Given the description of an element on the screen output the (x, y) to click on. 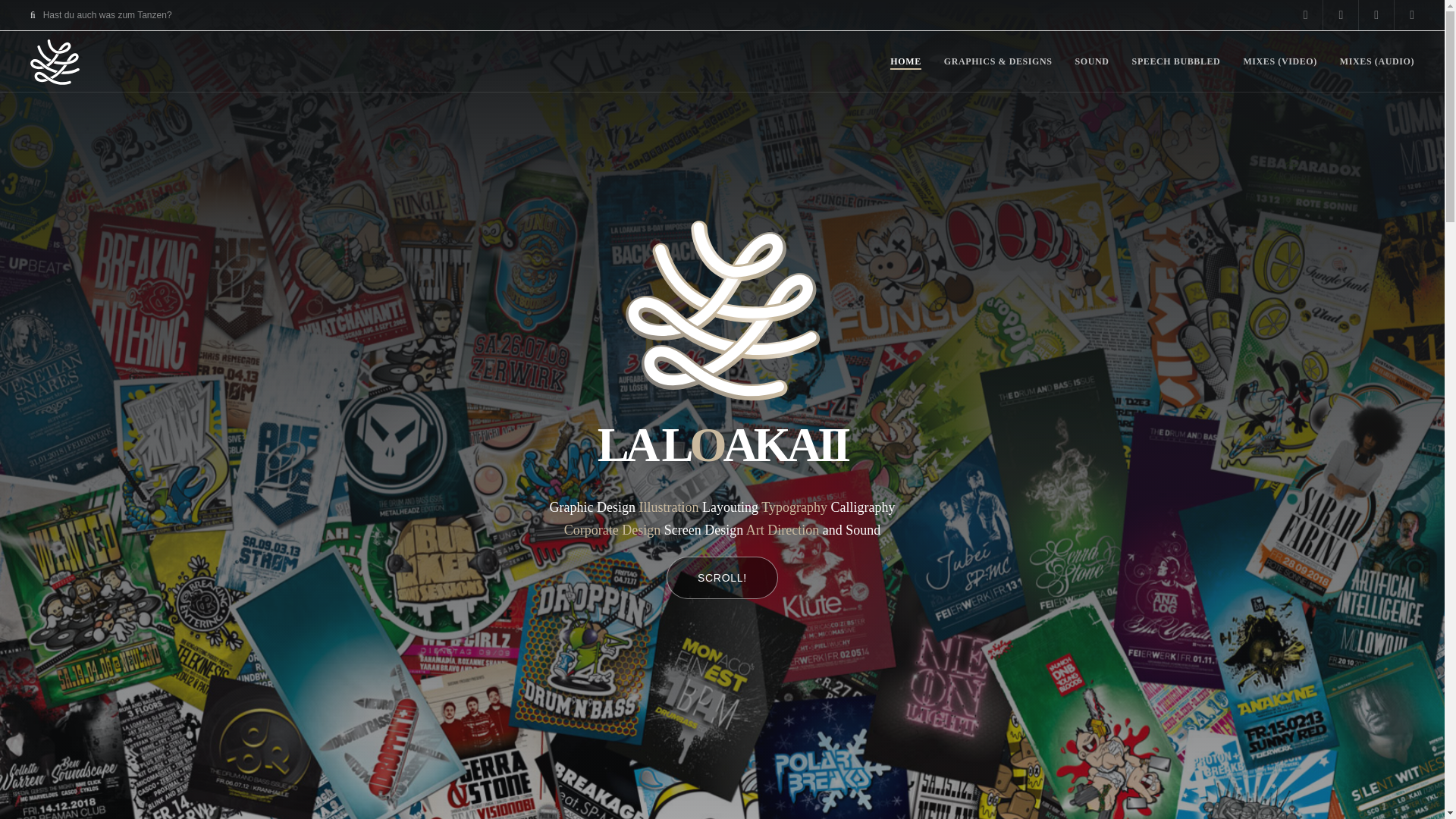
SCROLL! (720, 577)
SPEECH BUBBLED (1176, 61)
Hast du auch was zum Tanzen? (100, 15)
